Given the description of an element on the screen output the (x, y) to click on. 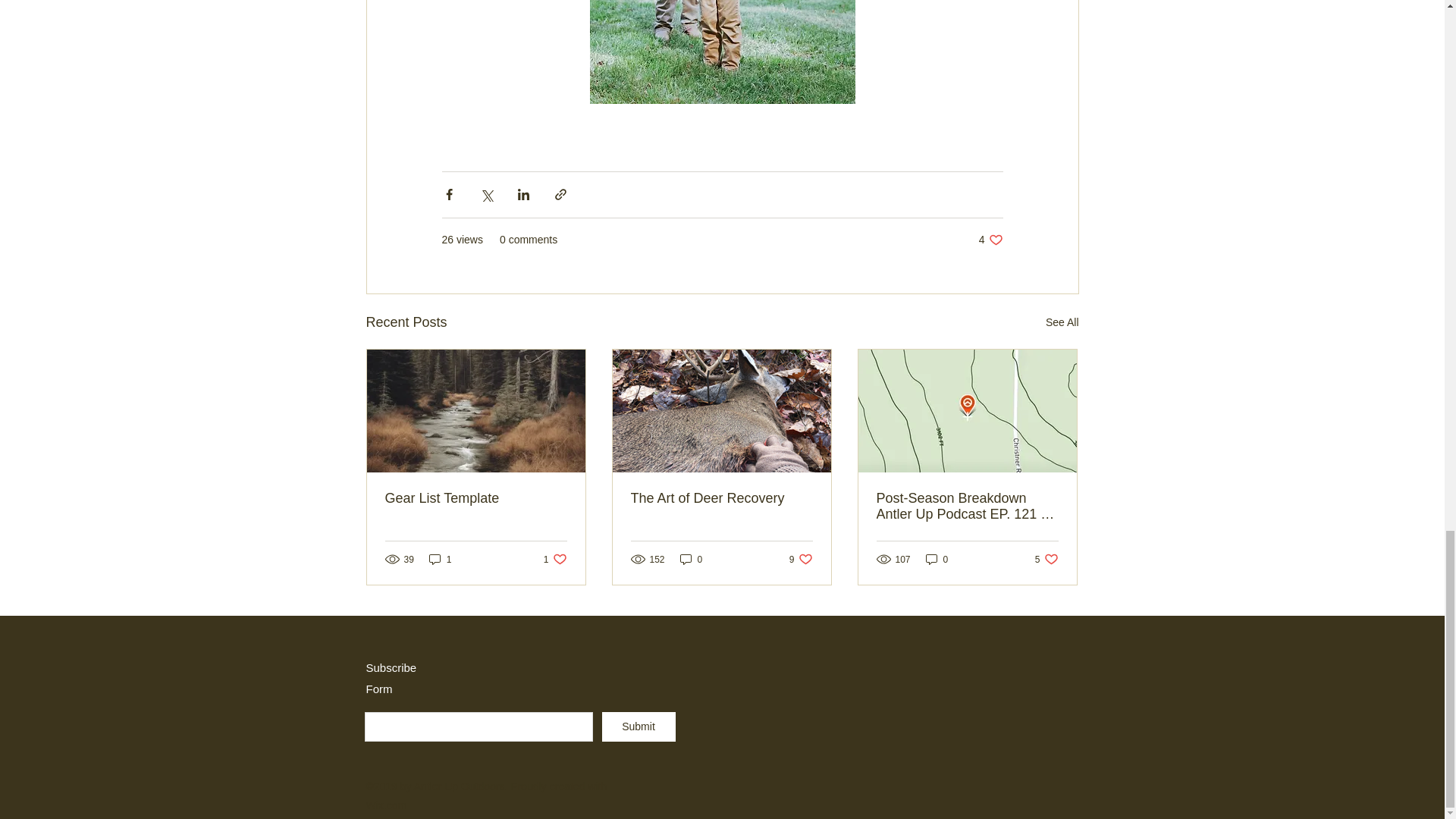
0 (990, 239)
The Art of Deer Recovery (800, 559)
Gear List Template (555, 559)
Submit (1046, 559)
1 (937, 559)
See All (721, 498)
